Given the description of an element on the screen output the (x, y) to click on. 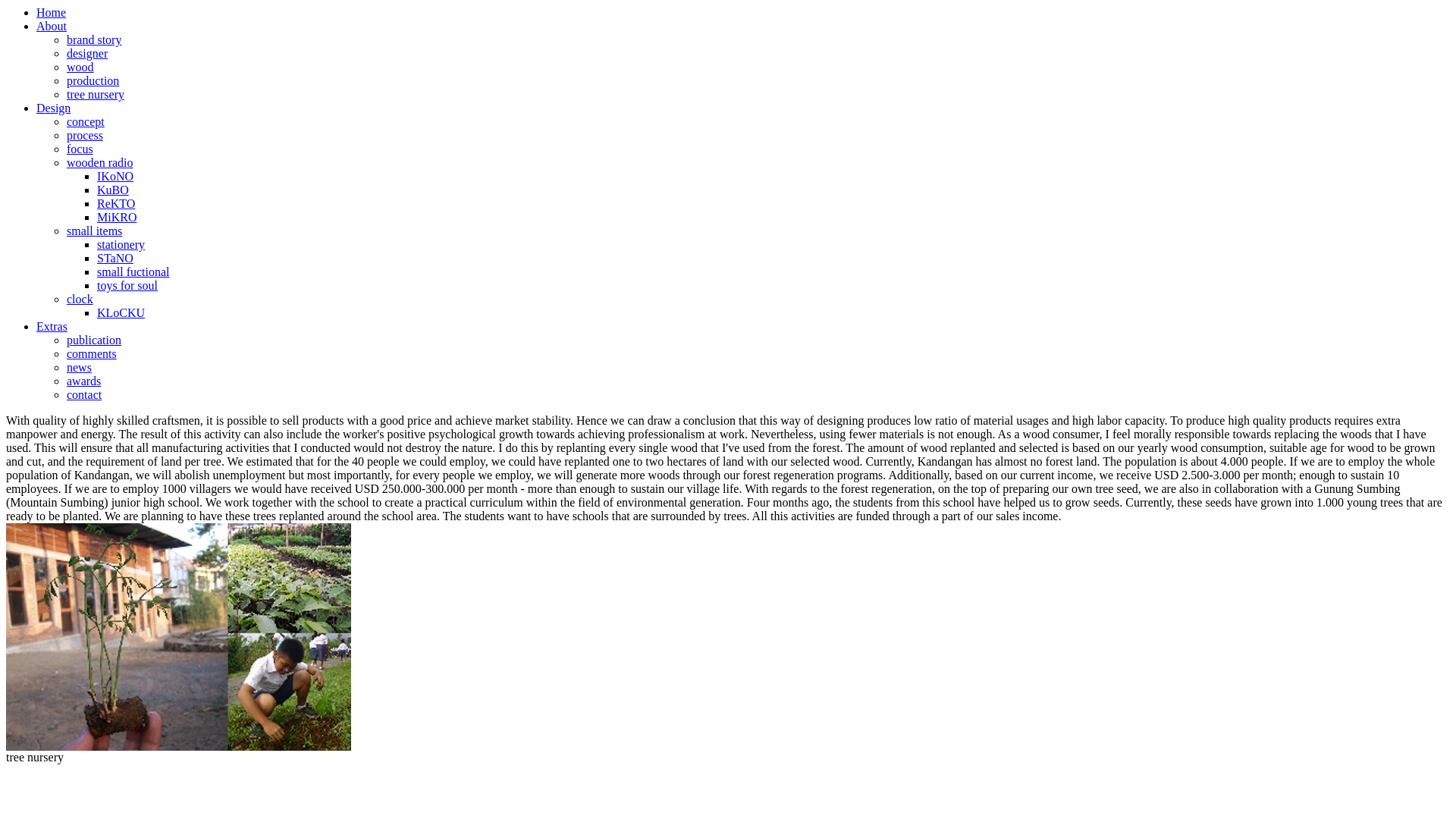
comments (91, 353)
Design (52, 107)
small fuctional (133, 271)
contact (83, 394)
publication (93, 339)
focus (79, 148)
clock (79, 298)
KLoCKU (120, 312)
wooden radio (99, 162)
designer (86, 52)
concept (85, 121)
small items (94, 230)
brand story (93, 39)
wood (80, 66)
KuBO (113, 189)
